Given the description of an element on the screen output the (x, y) to click on. 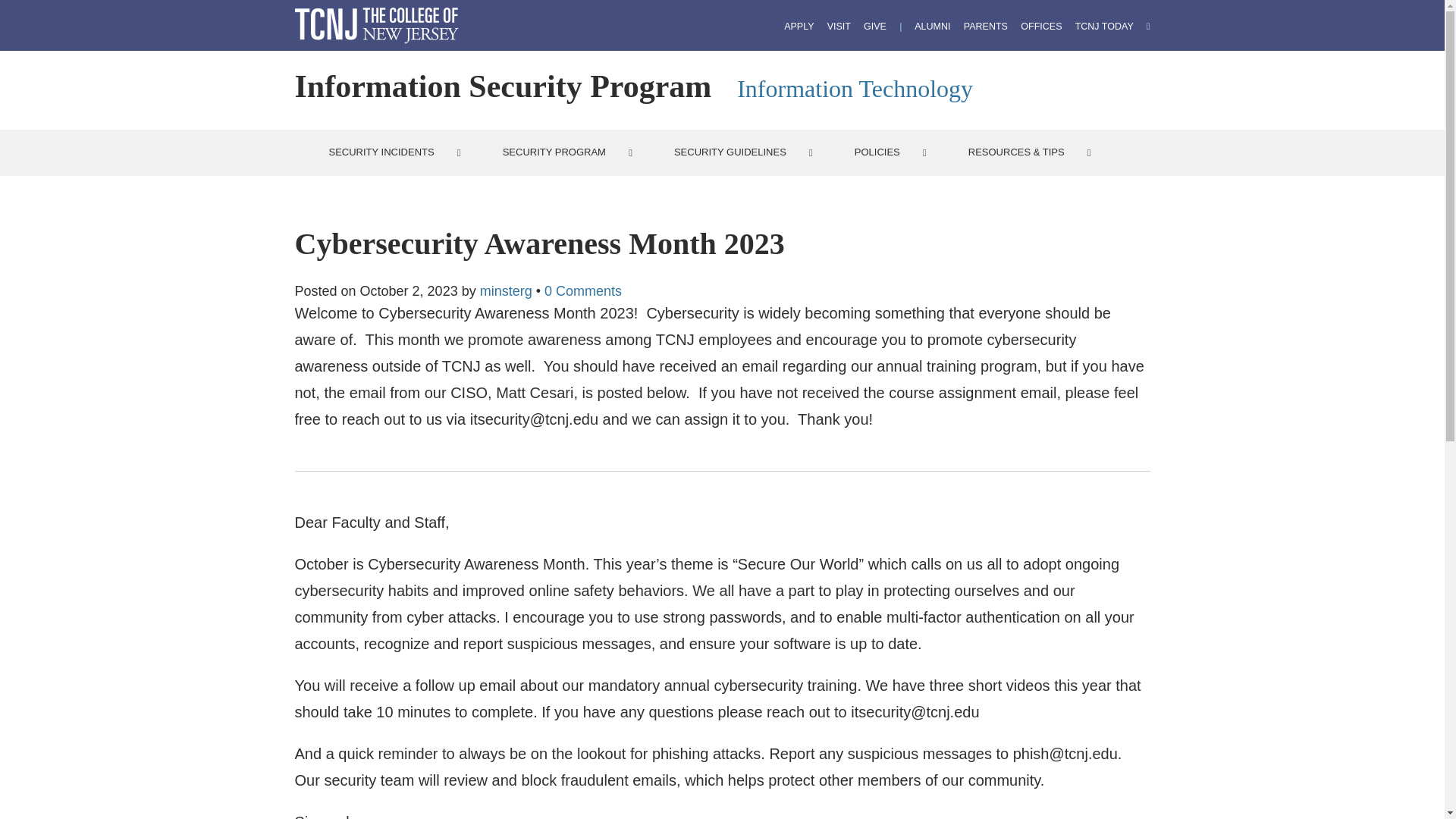
OFFICES (1040, 26)
GIVE (874, 26)
APPLY (798, 26)
Information Security Program (502, 86)
ALUMNI (932, 26)
View all posts by minsterg (506, 290)
submit (22, 10)
VISIT (838, 26)
PARENTS (985, 26)
Information Technology (854, 88)
